Given the description of an element on the screen output the (x, y) to click on. 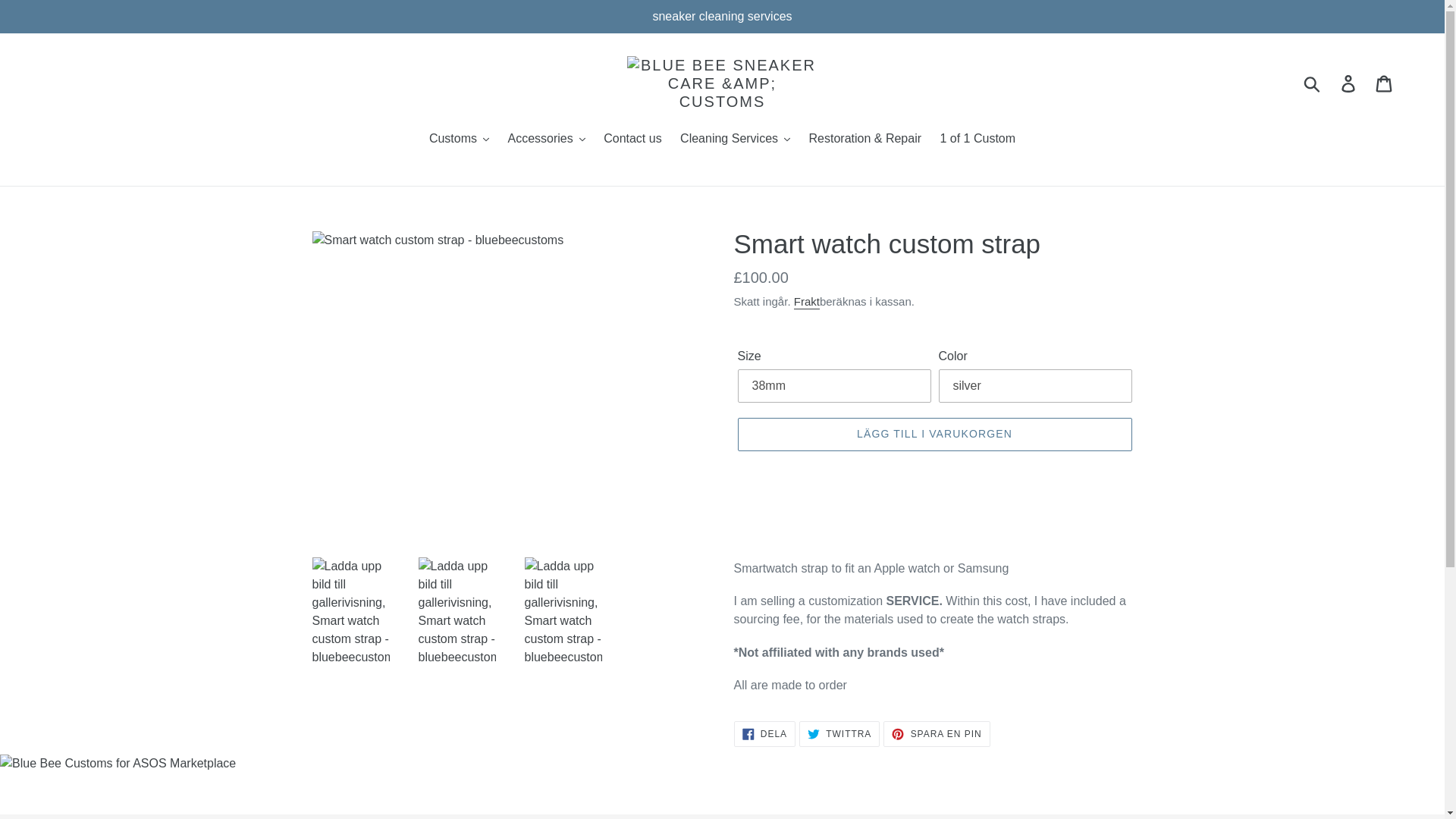
Varukorg (1385, 82)
Logga in (1349, 82)
Skicka (1313, 82)
